Given the description of an element on the screen output the (x, y) to click on. 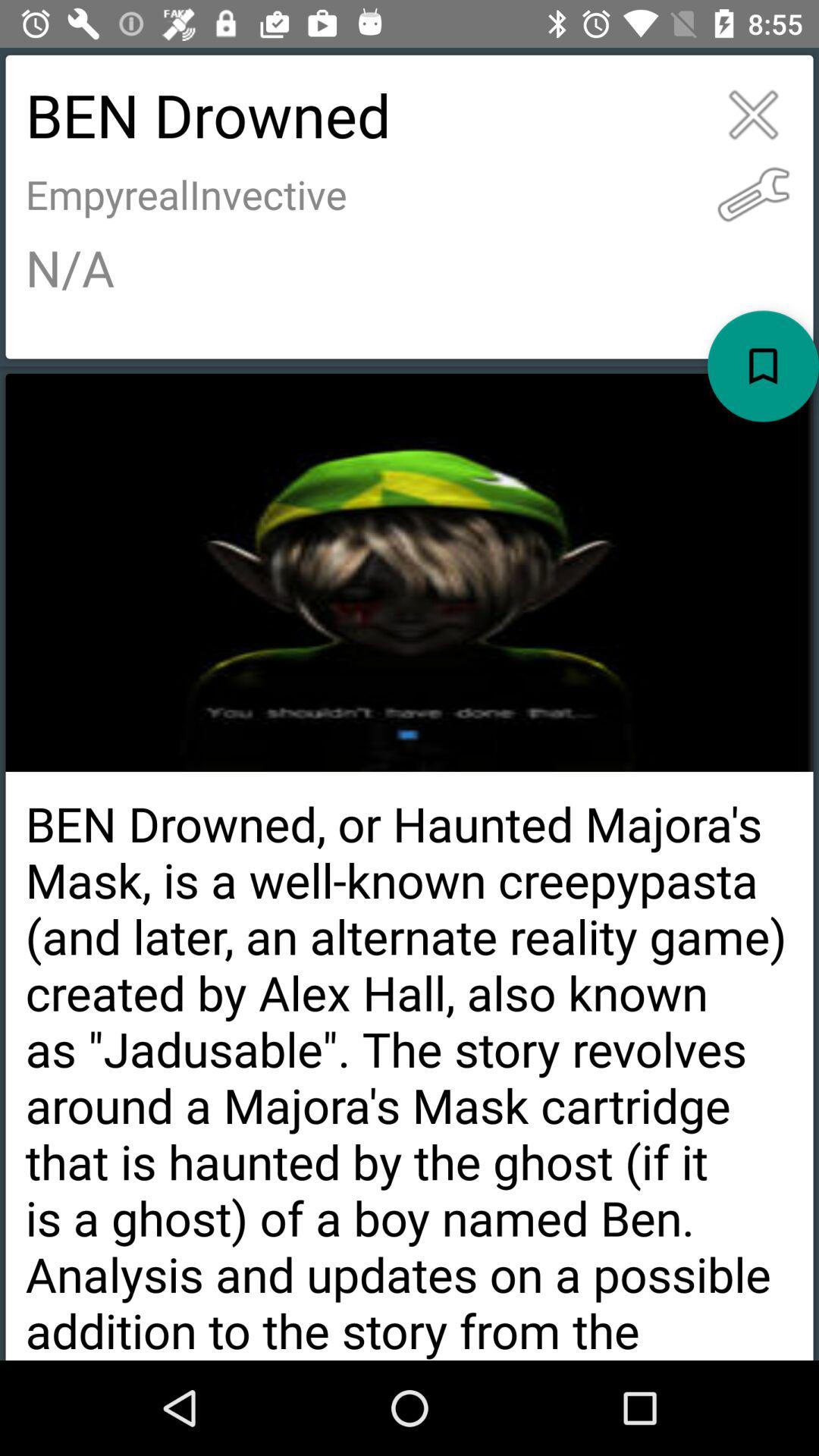
bookmark (763, 366)
